Given the description of an element on the screen output the (x, y) to click on. 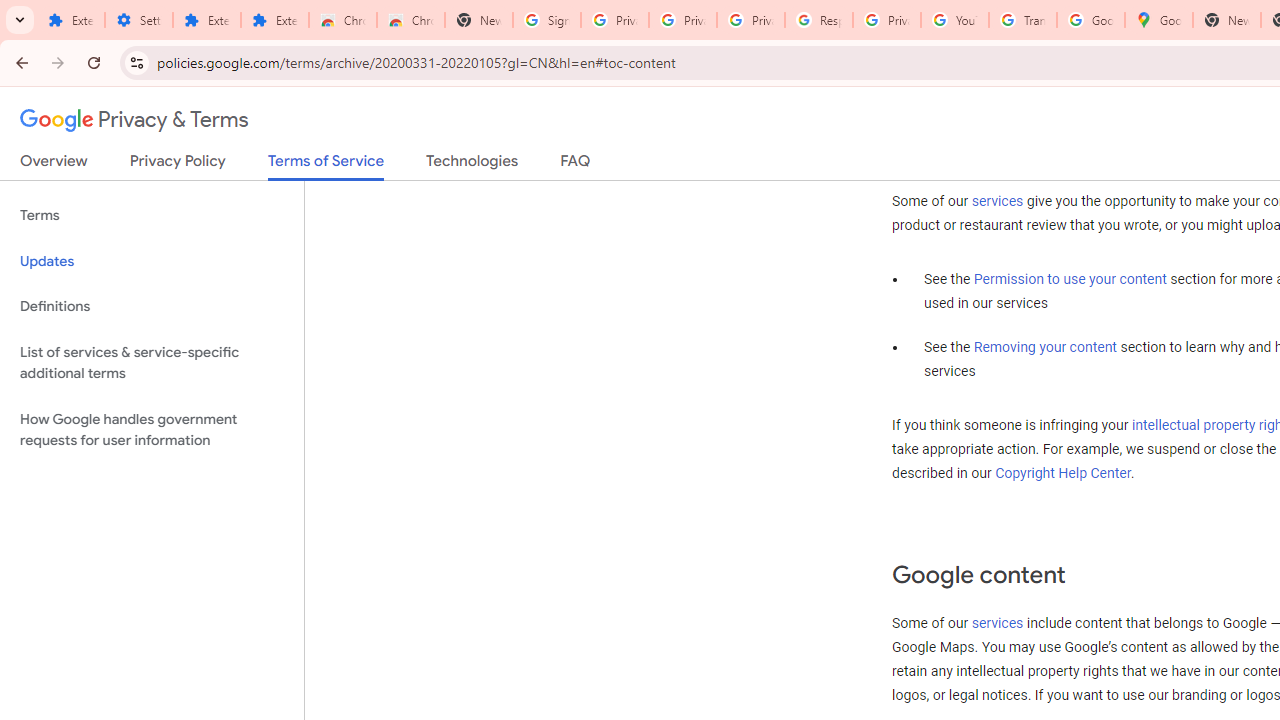
Extensions (274, 20)
New Tab (1226, 20)
Extensions (70, 20)
Copyright Help Center (1062, 474)
Permission to use your content (1069, 279)
